Given the description of an element on the screen output the (x, y) to click on. 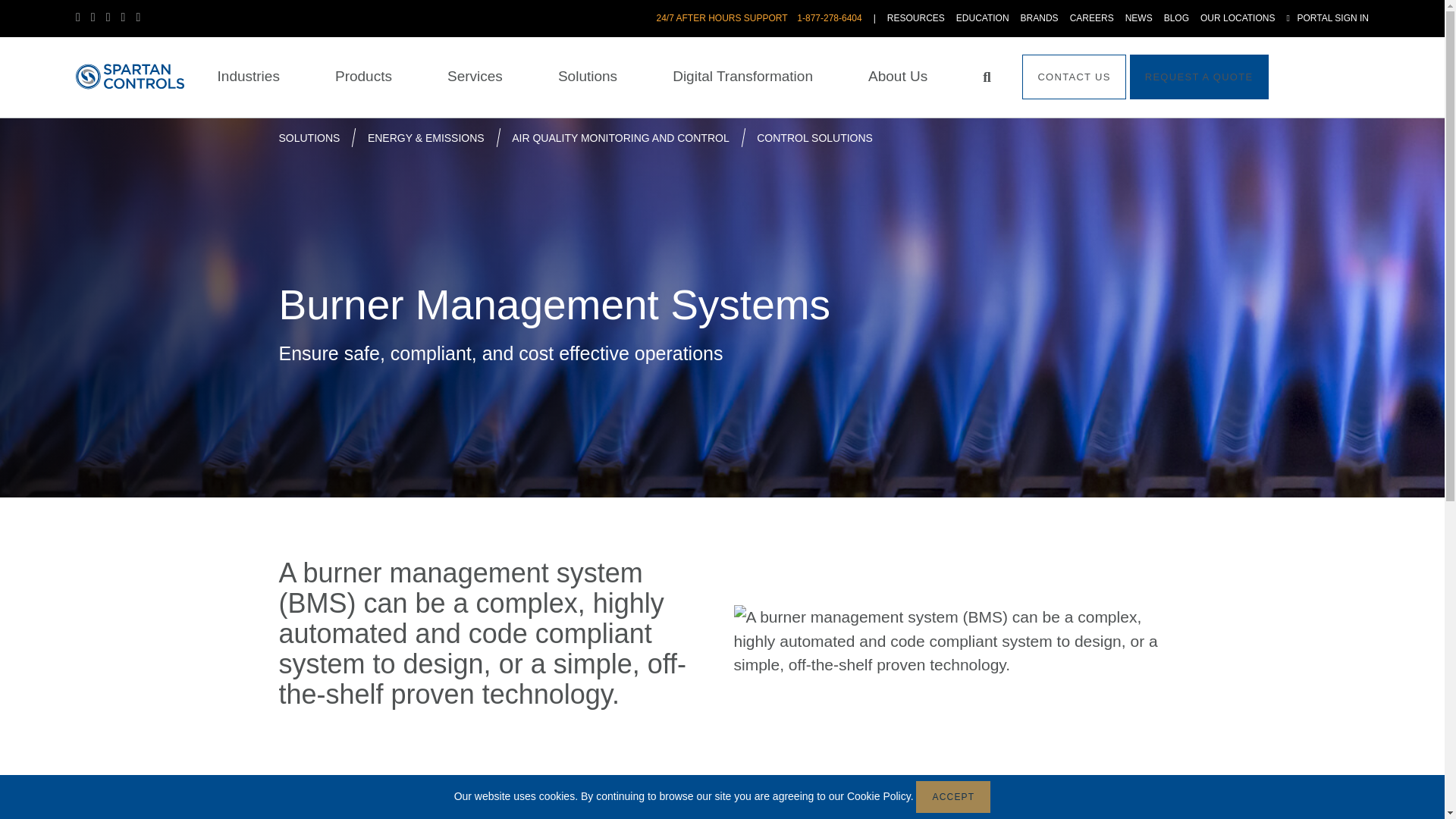
BLOG (1176, 18)
RESOURCES (915, 18)
Accept (952, 797)
NEWS (1139, 18)
Digital Transformation (742, 76)
Careers (1091, 18)
Resources (915, 18)
BRANDS (1039, 18)
Brands (1039, 18)
Our Locations (1237, 18)
